Given the description of an element on the screen output the (x, y) to click on. 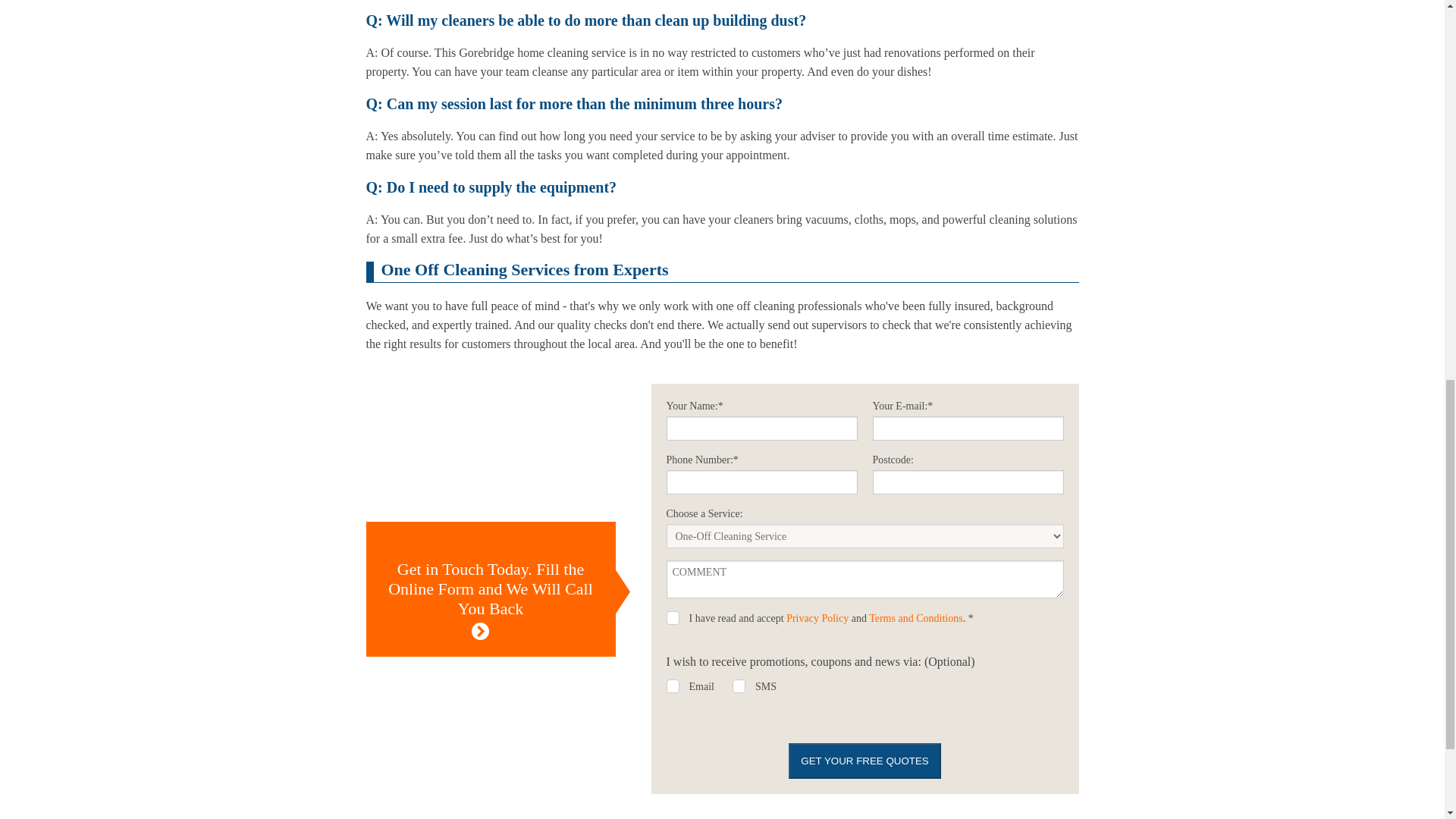
Get Your Free Quotes (864, 760)
Terms and Conditions (915, 618)
Privacy Policy (817, 618)
Get Your Free Quotes (864, 760)
